Given the description of an element on the screen output the (x, y) to click on. 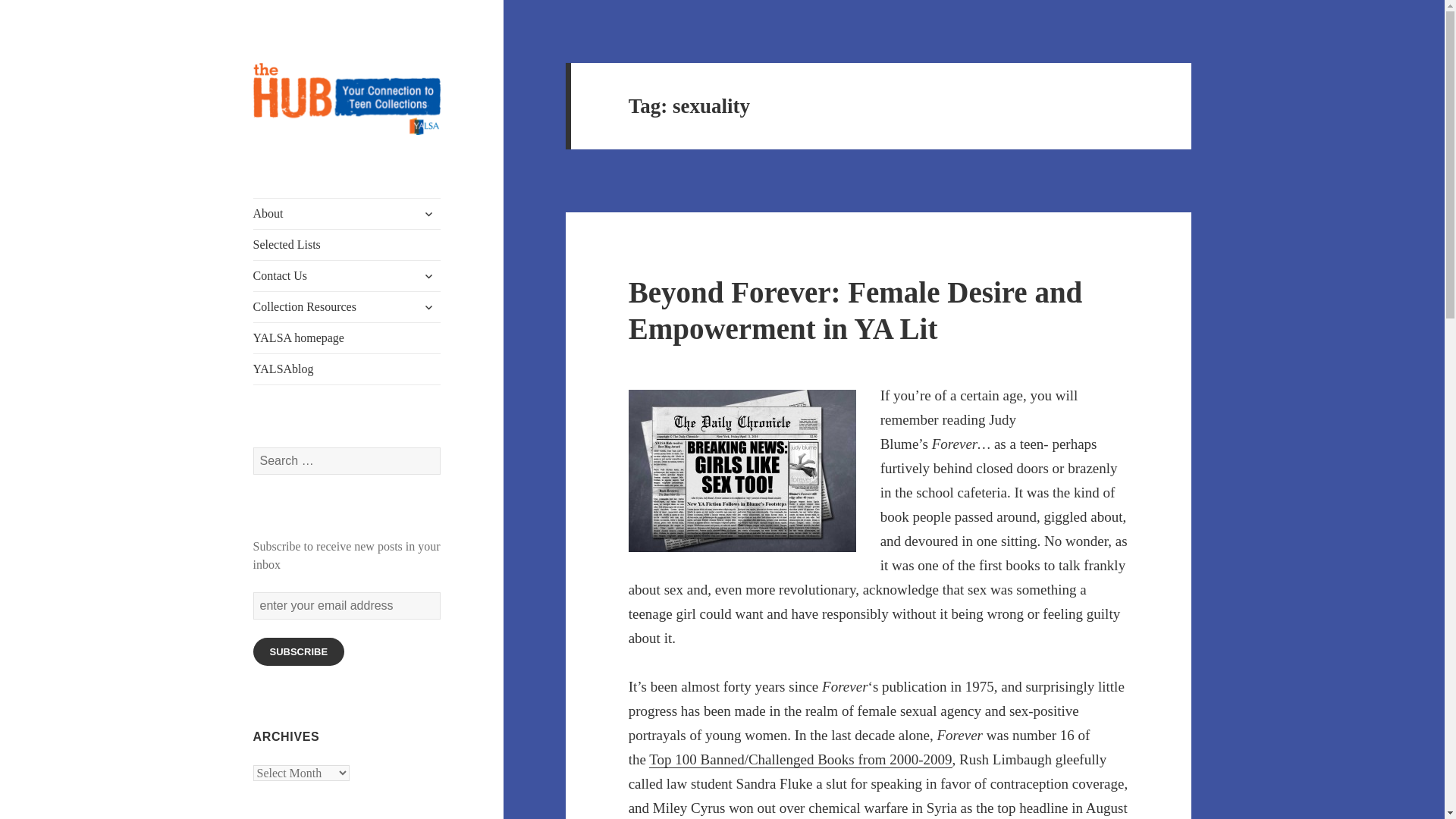
YALSA homepage (347, 337)
Collection Resources (347, 306)
expand child menu (428, 213)
Beyond Forever: Female Desire and Empowerment in YA Lit (855, 310)
Contact Us (347, 276)
About (347, 214)
The Hub (293, 159)
expand child menu (428, 275)
